Given the description of an element on the screen output the (x, y) to click on. 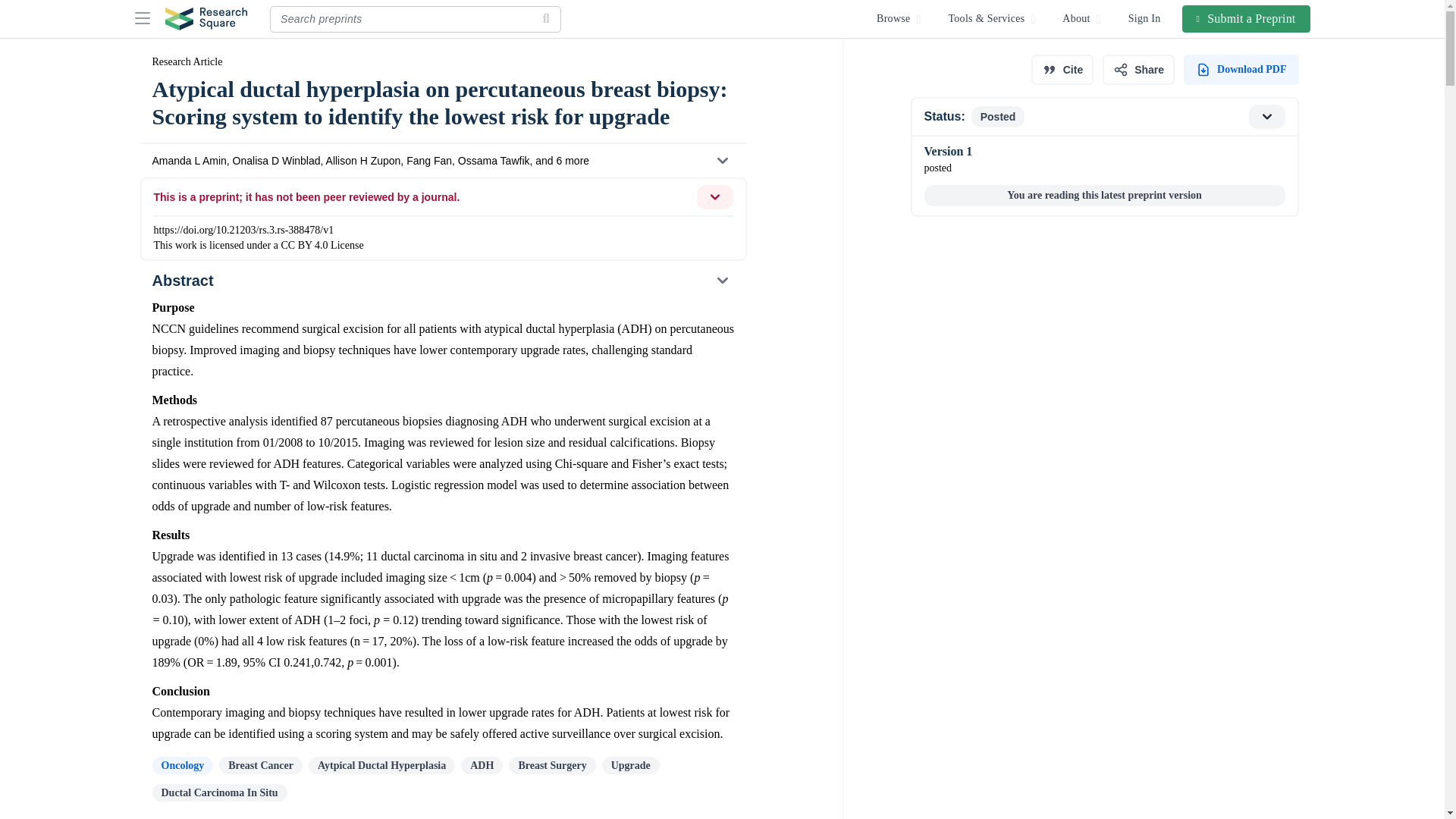
Abstract (442, 280)
Sign In (1144, 18)
Submit a Preprint (1246, 18)
Oncology (181, 764)
